Given the description of an element on the screen output the (x, y) to click on. 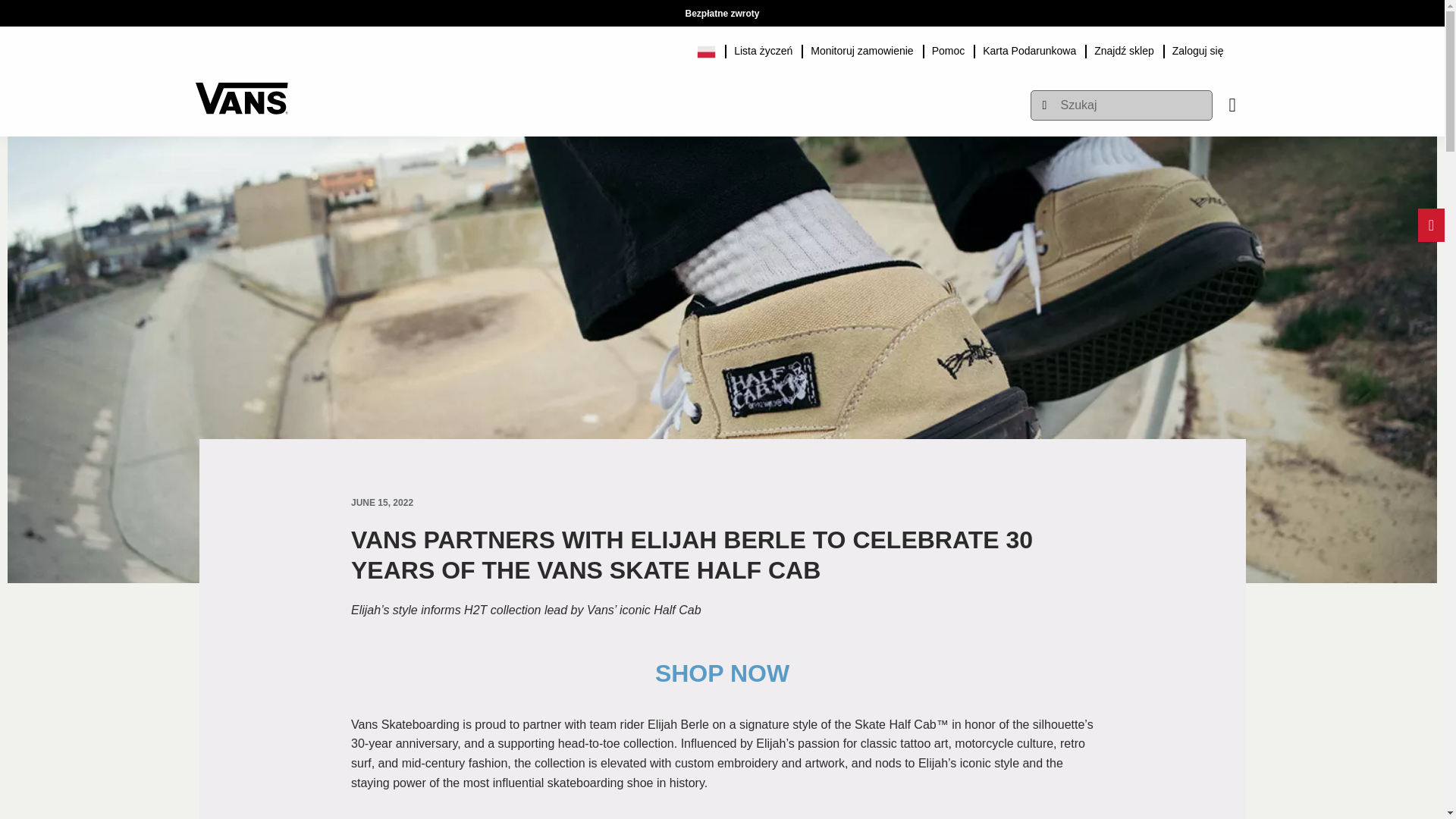
Karta Podarunkowa (1029, 48)
Skip to main content (202, 7)
Pomoc (948, 48)
Poland (711, 48)
Pomoc (948, 48)
Monitoruj zamowienie (861, 48)
Monitoruj zamowienie (861, 48)
Karta Podarunkowa (1029, 48)
Vans (241, 91)
